Given the description of an element on the screen output the (x, y) to click on. 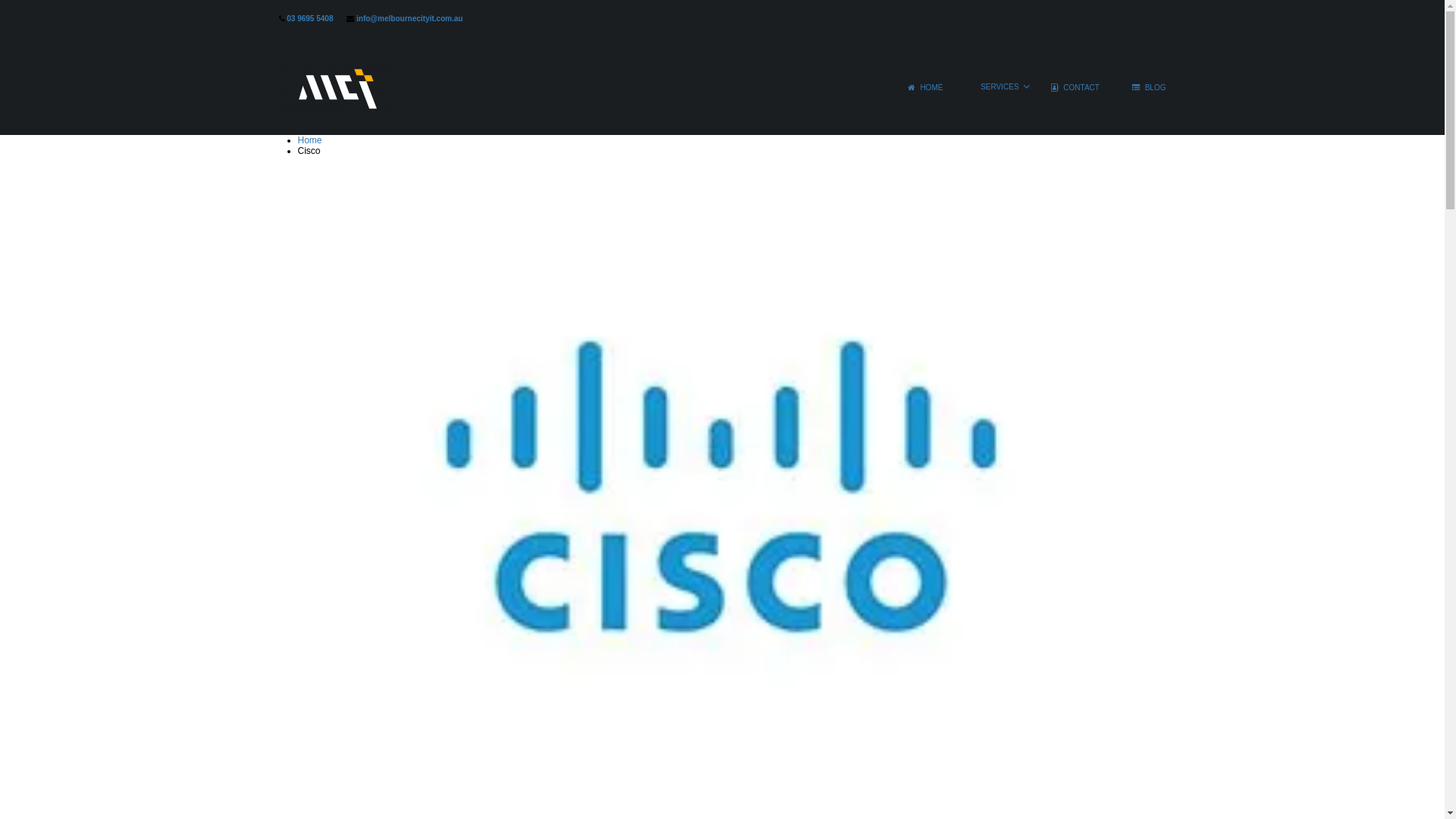
Home Element type: text (309, 139)
03 9695 5408 Element type: text (309, 18)
info@melbournecityit.com.au Element type: text (409, 18)
CONTACT Element type: text (1074, 94)
BLOG Element type: text (1141, 94)
SERVICES Element type: text (996, 93)
HOME Element type: text (924, 94)
